Given the description of an element on the screen output the (x, y) to click on. 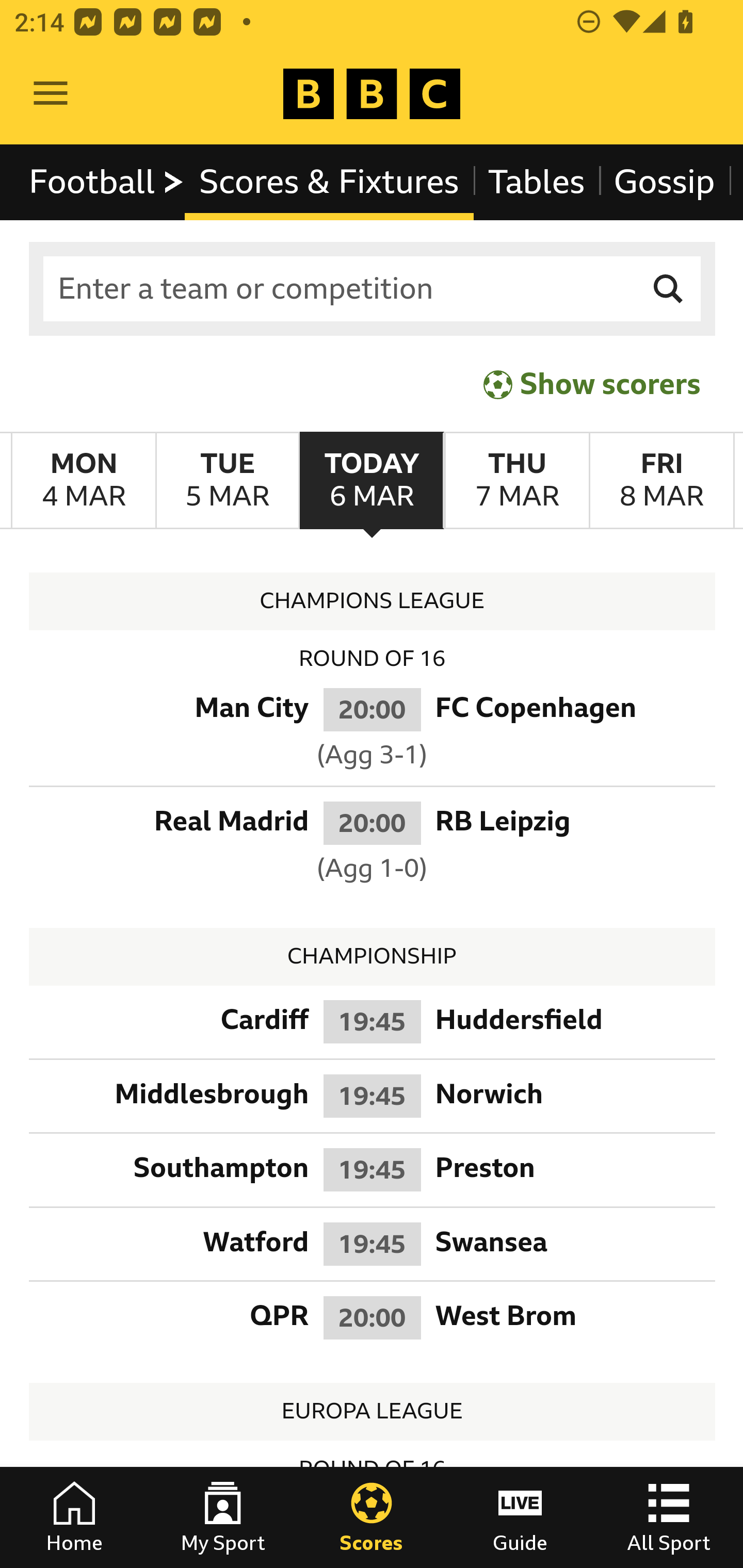
Open Menu (50, 93)
Football  (106, 181)
Scores & Fixtures (329, 181)
Tables (536, 181)
Gossip (664, 181)
Search (669, 289)
Show scorers (591, 383)
MondayMarch 4th Monday March 4th (83, 480)
TuesdayMarch 5th Tuesday March 5th (227, 480)
ThursdayMarch 7th Thursday March 7th (516, 480)
FridayMarch 8th Friday March 8th (661, 480)
Home (74, 1517)
My Sport (222, 1517)
Guide (519, 1517)
All Sport (668, 1517)
